Given the description of an element on the screen output the (x, y) to click on. 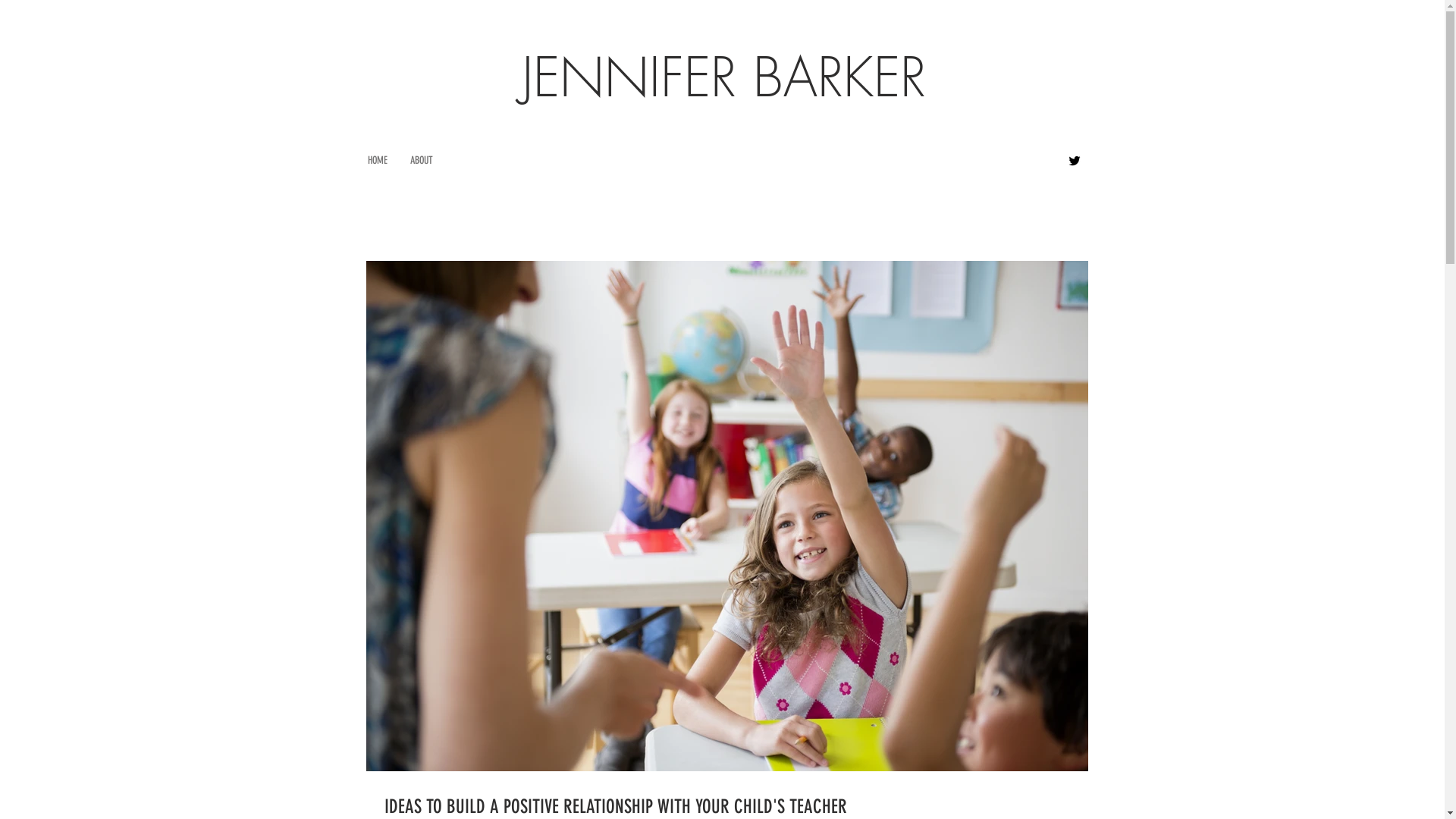
ABOUT Element type: text (421, 160)
HOME Element type: text (377, 160)
JENNIFER BARKER Element type: text (723, 77)
